Given the description of an element on the screen output the (x, y) to click on. 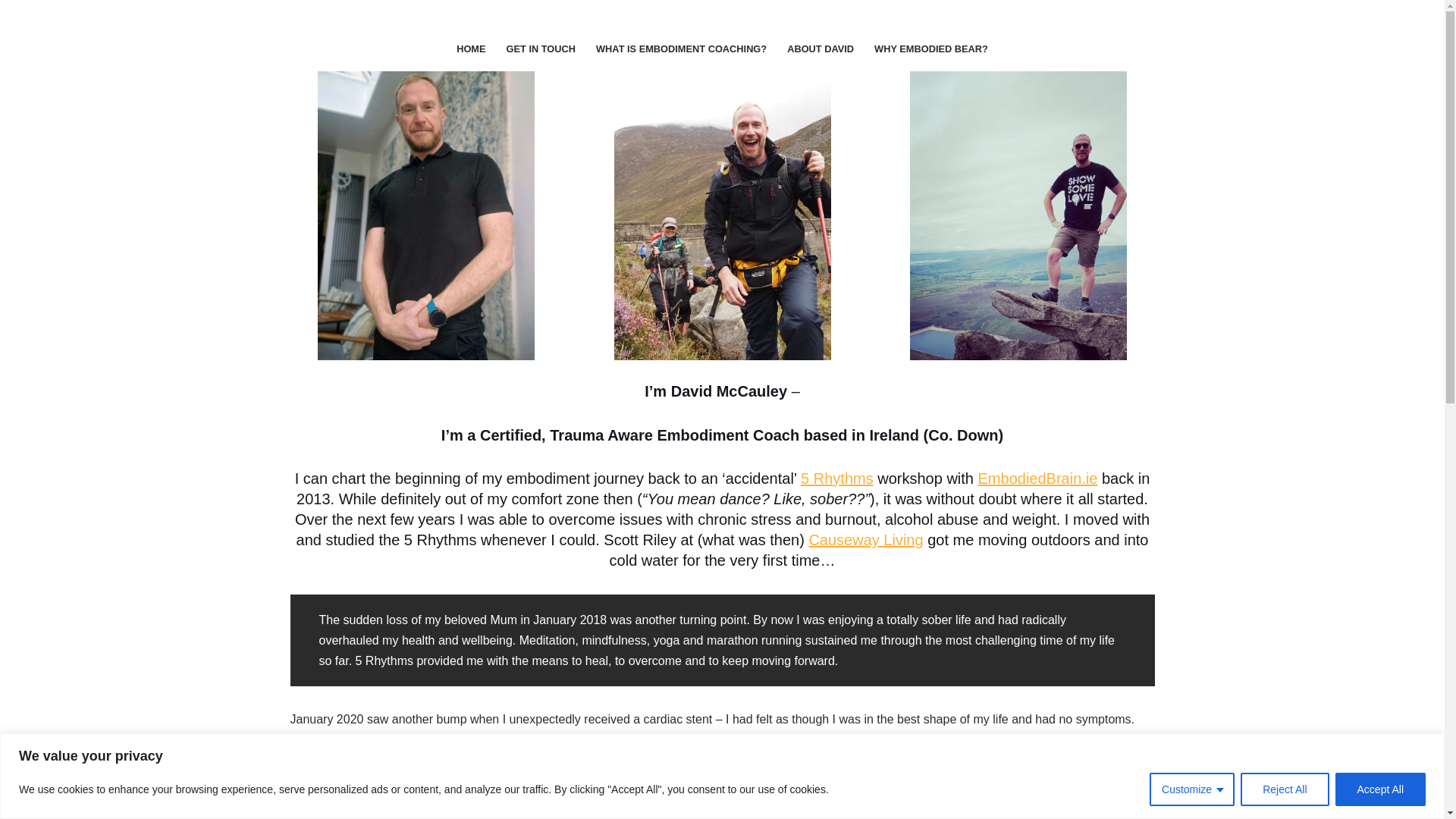
Accept All (1380, 788)
Customize (1192, 788)
5 Rhythms (836, 478)
EmbodiedBrain.ie (1037, 478)
HOME (470, 49)
Causeway Living (865, 539)
WHY EMBODIED BEAR? (931, 49)
Skip to content (11, 31)
ABOUT DAVID (820, 49)
WHAT IS EMBODIMENT COACHING? (681, 49)
EmbodiedBrain.ie (1037, 478)
Reject All (1283, 788)
GET IN TOUCH (540, 49)
Causeway Living (865, 539)
5 Rhythms (836, 478)
